Given the description of an element on the screen output the (x, y) to click on. 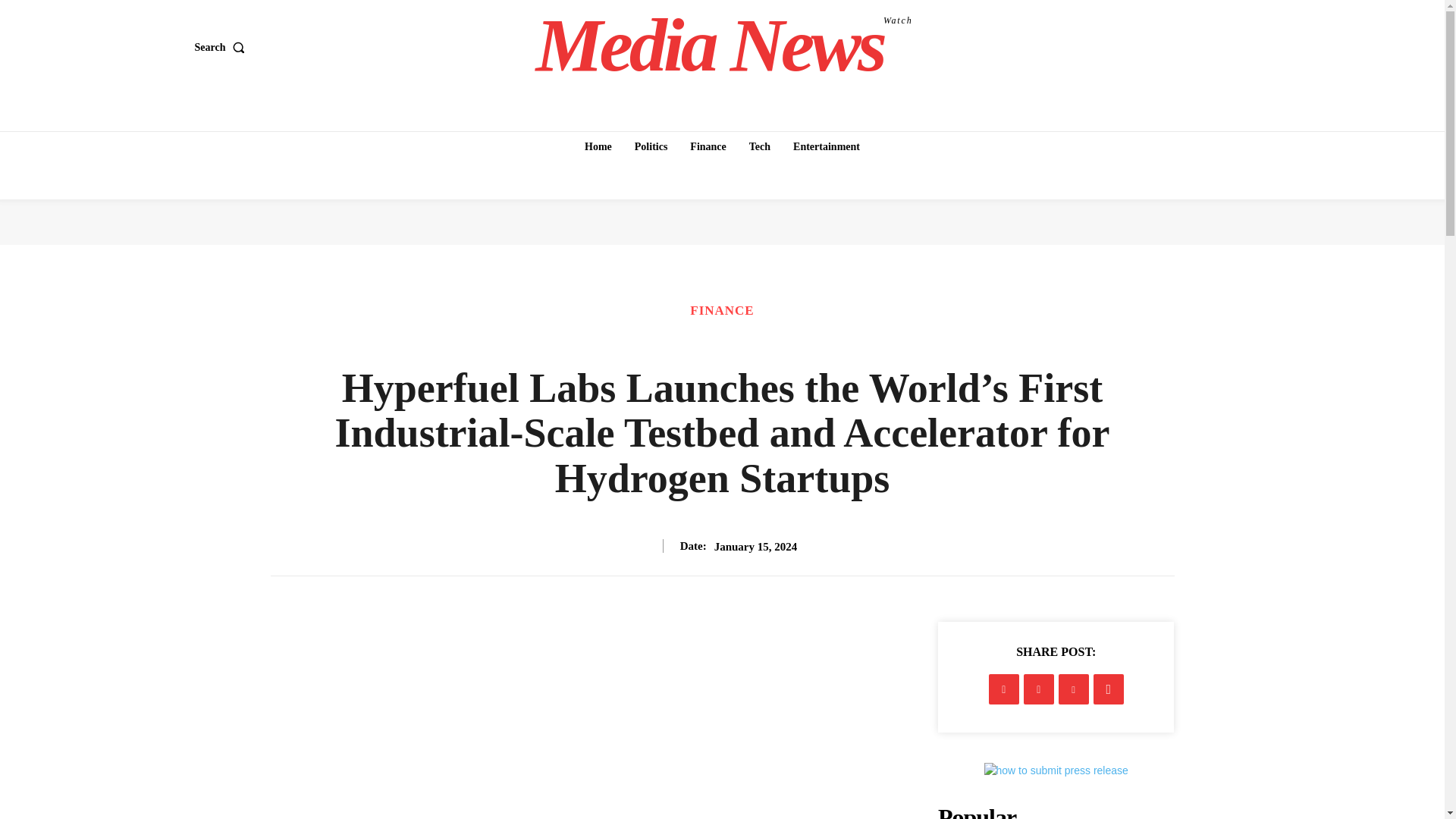
Finance (707, 146)
Media News Watch (724, 45)
Facebook (1003, 689)
Search (221, 47)
Pinterest (1073, 689)
Twitter (1038, 689)
FINANCE (722, 309)
Home (598, 146)
WhatsApp (1108, 689)
Tech (759, 146)
